Given the description of an element on the screen output the (x, y) to click on. 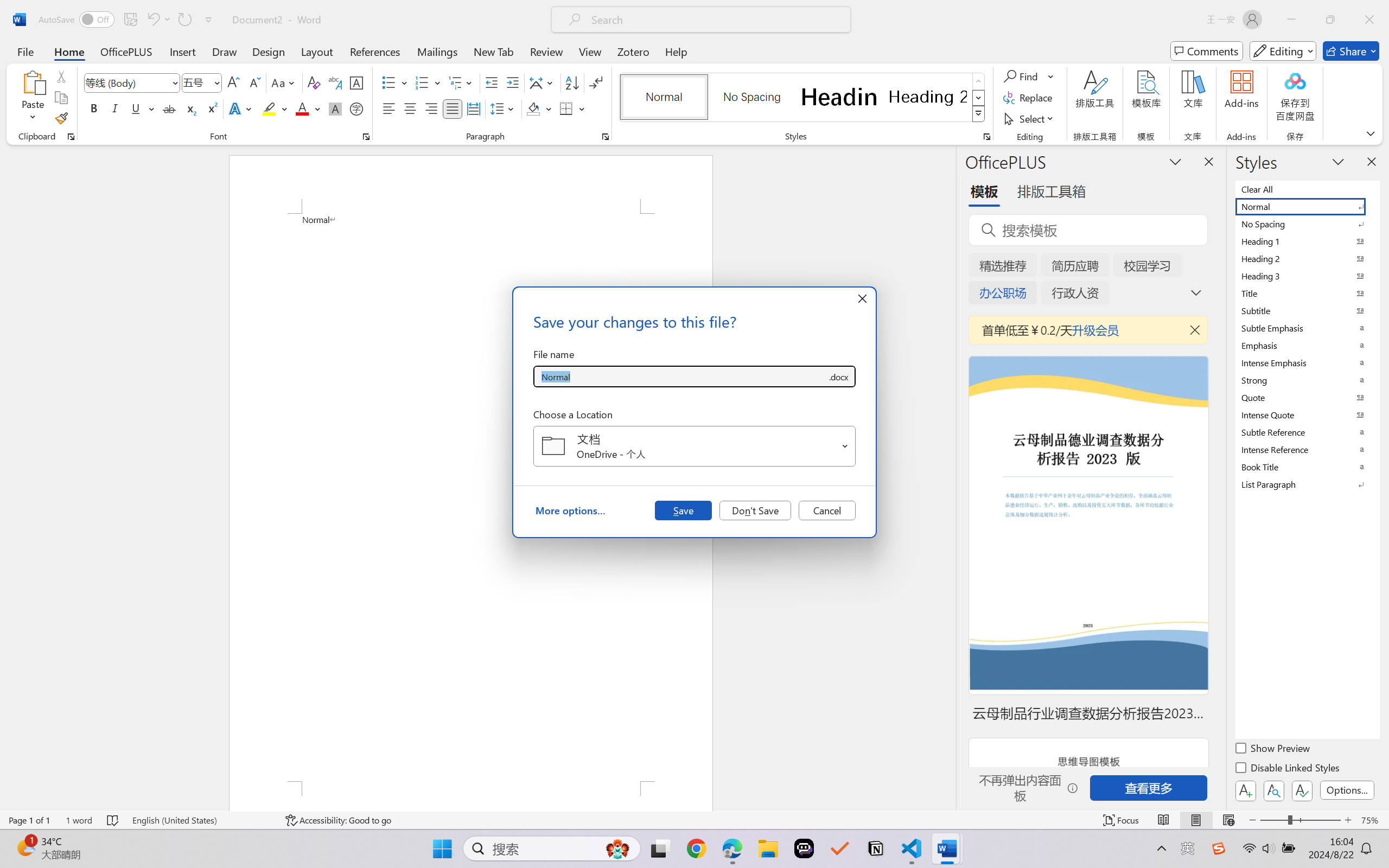
Font (126, 82)
New Tab (493, 51)
Superscript (210, 108)
Shading (539, 108)
Replace... (1029, 97)
Intense Reference (1306, 449)
Word Count 1 word (78, 819)
Open (844, 446)
Restore Down (1330, 19)
Subtitle (1306, 310)
Mailings (437, 51)
Undo Apply Quick Style (158, 19)
